Given the description of an element on the screen output the (x, y) to click on. 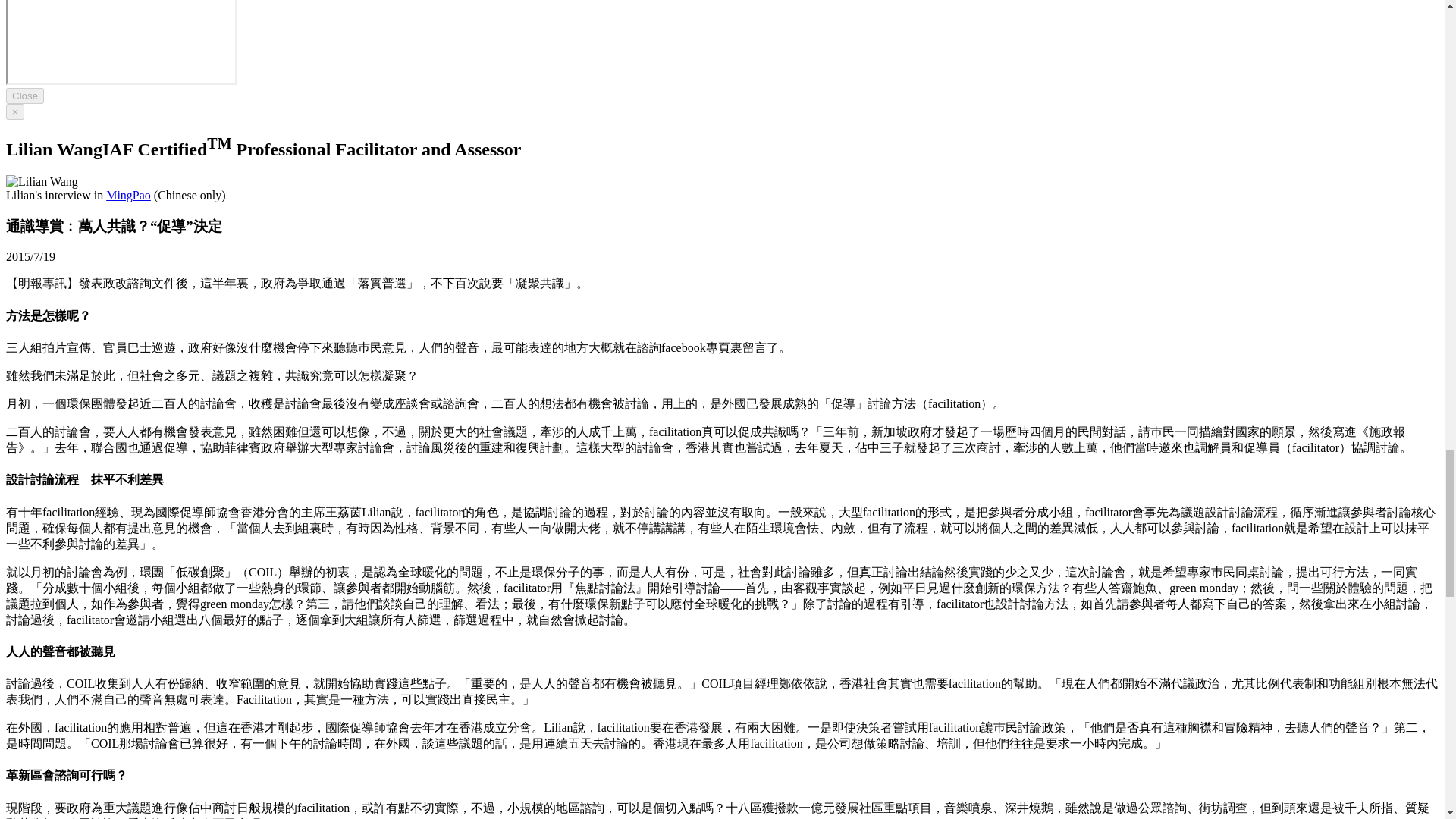
Lilian Wang (41, 182)
